Given the description of an element on the screen output the (x, y) to click on. 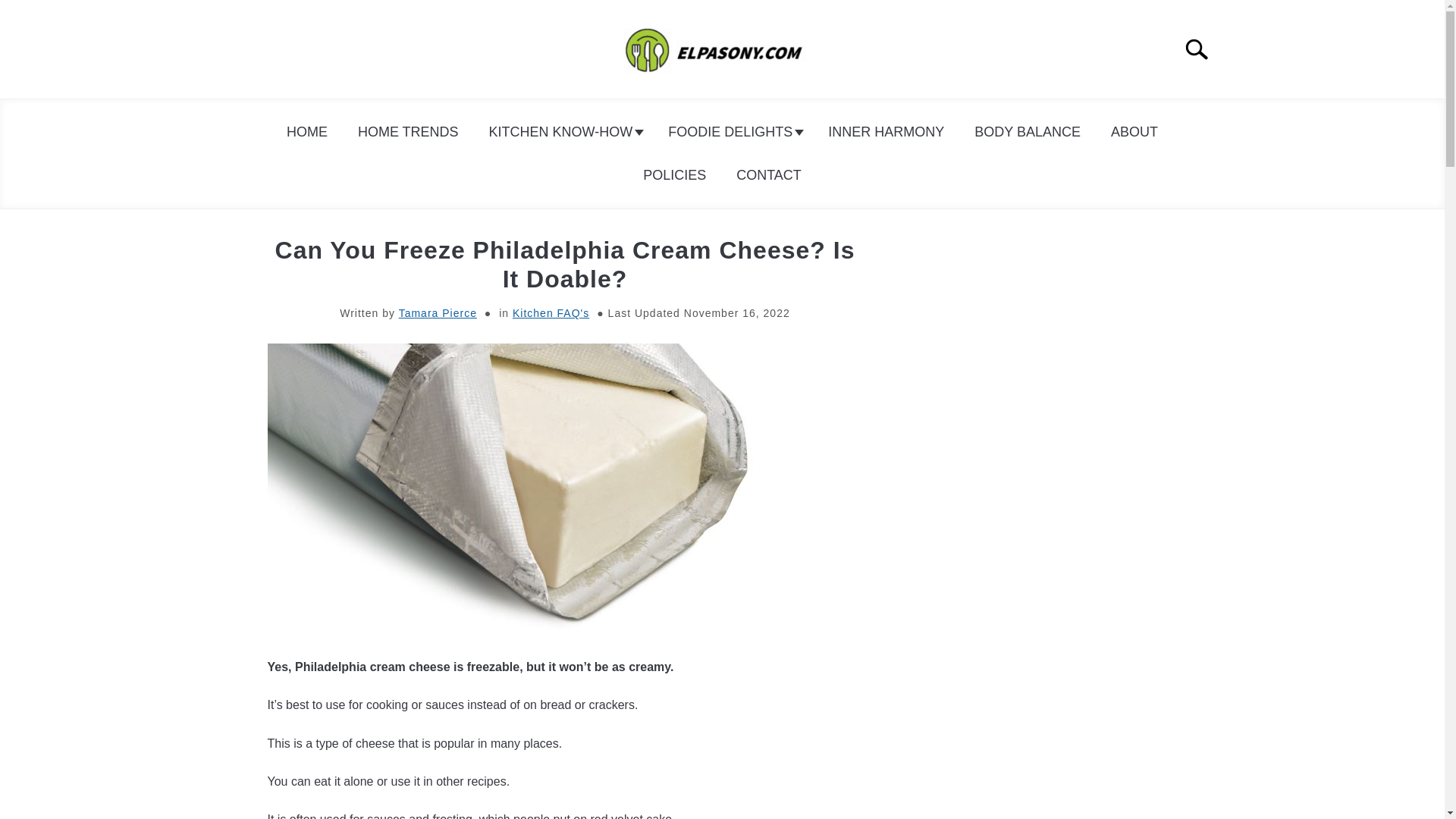
HOME TRENDS (408, 131)
BODY BALANCE (1027, 131)
FOODIE DELIGHTS (732, 131)
POLICIES (673, 175)
Tamara Pierce (437, 313)
CONTACT (768, 175)
Kitchen FAQ's (550, 313)
HOME (306, 131)
INNER HARMONY (885, 131)
KITCHEN KNOW-HOW (563, 131)
Search (1203, 49)
ABOUT (1134, 131)
